Given the description of an element on the screen output the (x, y) to click on. 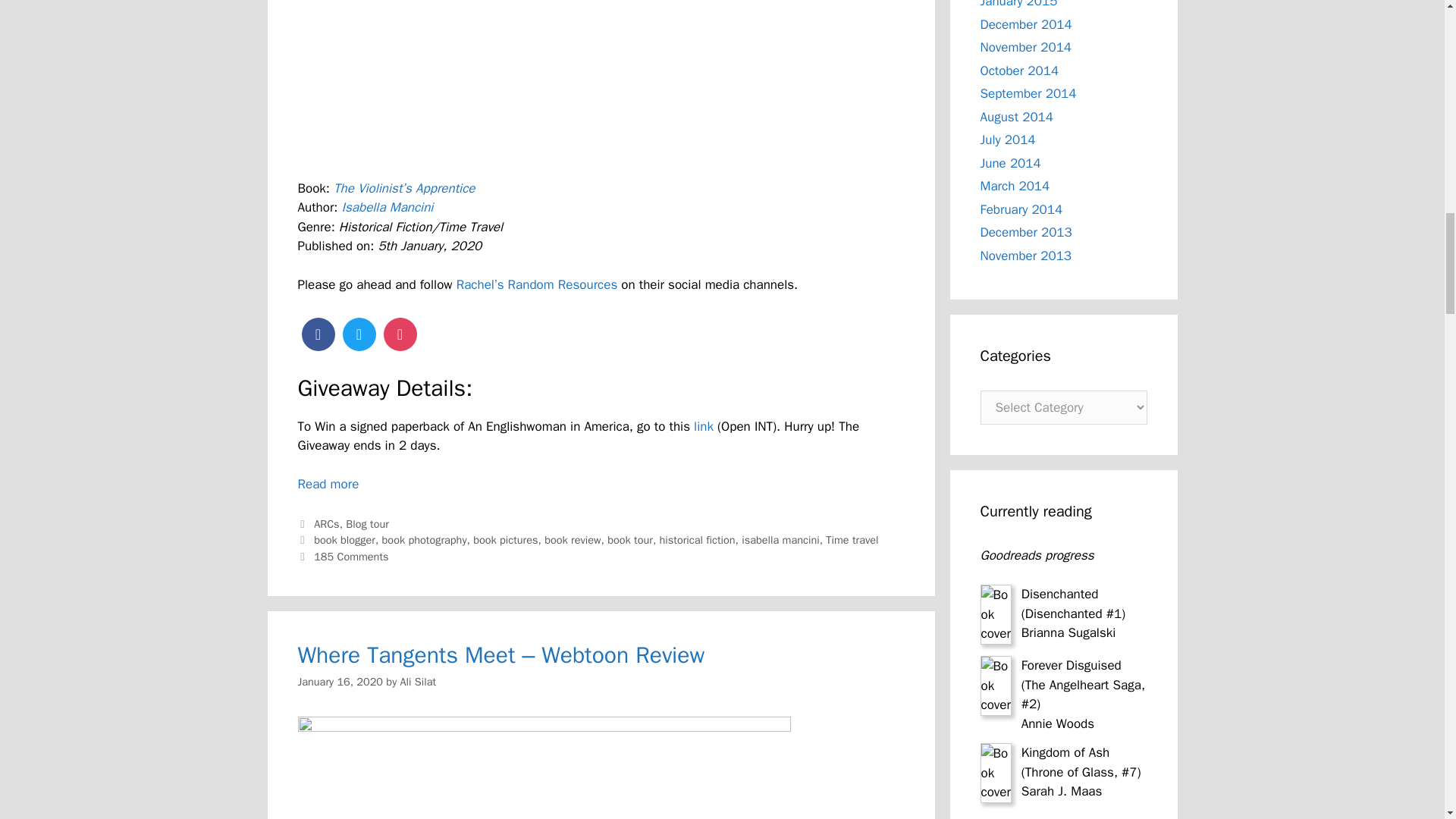
View all posts by Ali Silat (418, 681)
Isabella Mancini (387, 207)
1:10 am (339, 681)
